Given the description of an element on the screen output the (x, y) to click on. 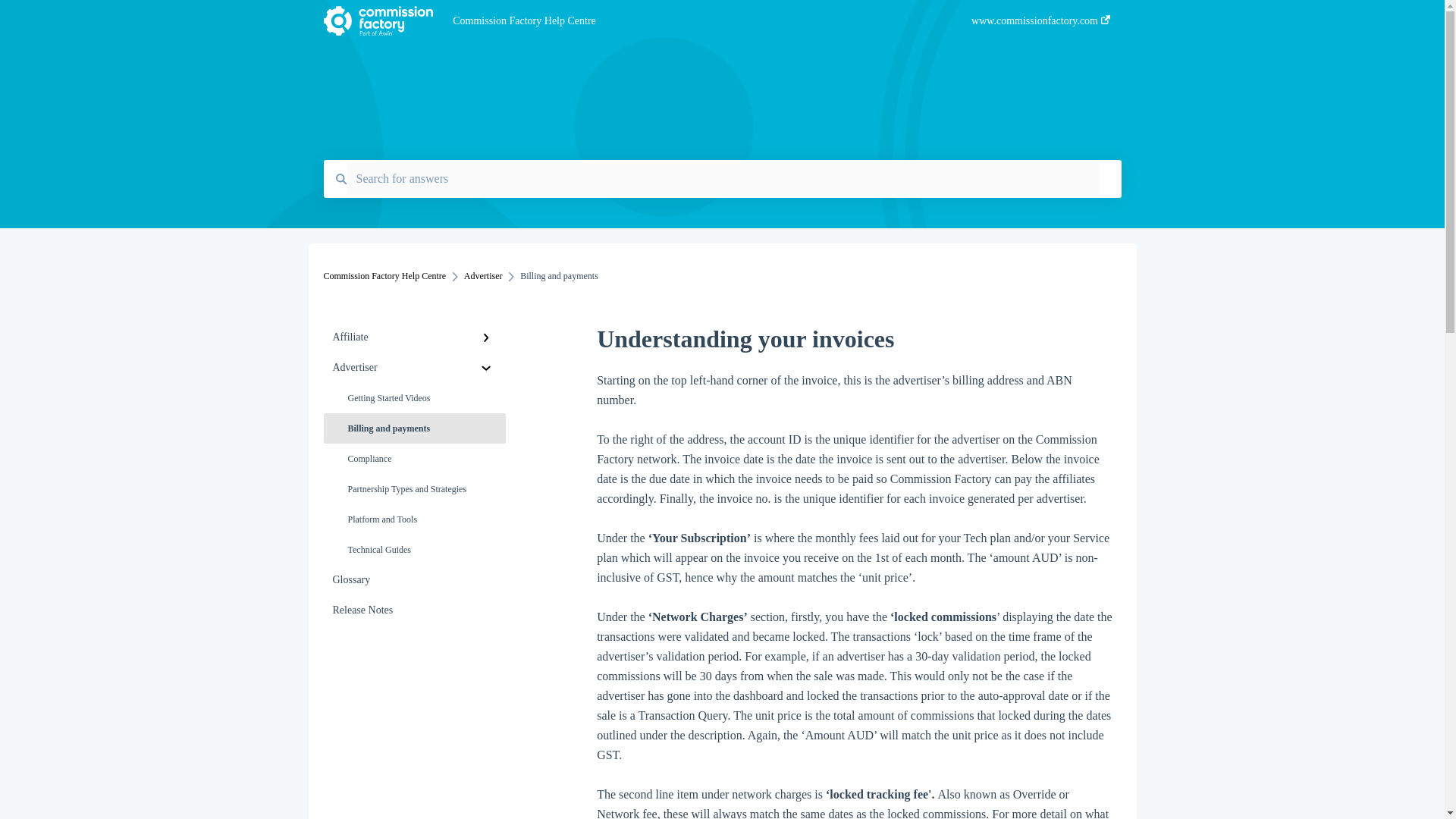
Partnership Types and Strategies (414, 489)
Billing and payments (414, 428)
Release Notes (414, 610)
Advertiser (483, 276)
Affiliate (414, 337)
Technical Guides (414, 549)
Glossary (414, 580)
Getting Started Videos (414, 398)
Commission Factory Help Centre (384, 276)
Compliance (414, 458)
Commission Factory Help Centre (689, 21)
www.commissionfactory.com (1040, 25)
Platform and Tools (414, 519)
Advertiser (414, 367)
